Given the description of an element on the screen output the (x, y) to click on. 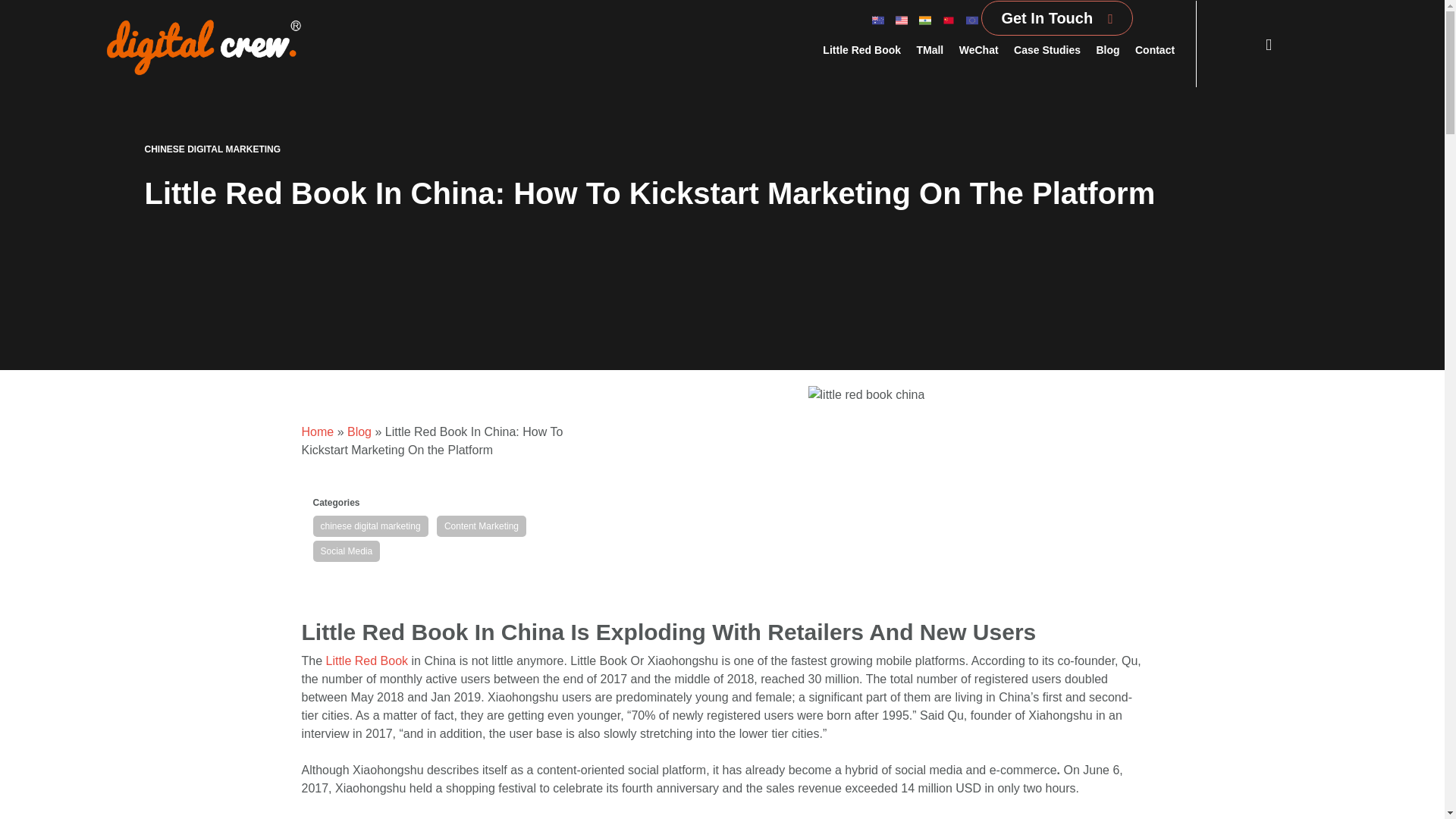
Get In Touch (1056, 18)
Little Red Book (861, 50)
Get In Touch (1047, 17)
